Given the description of an element on the screen output the (x, y) to click on. 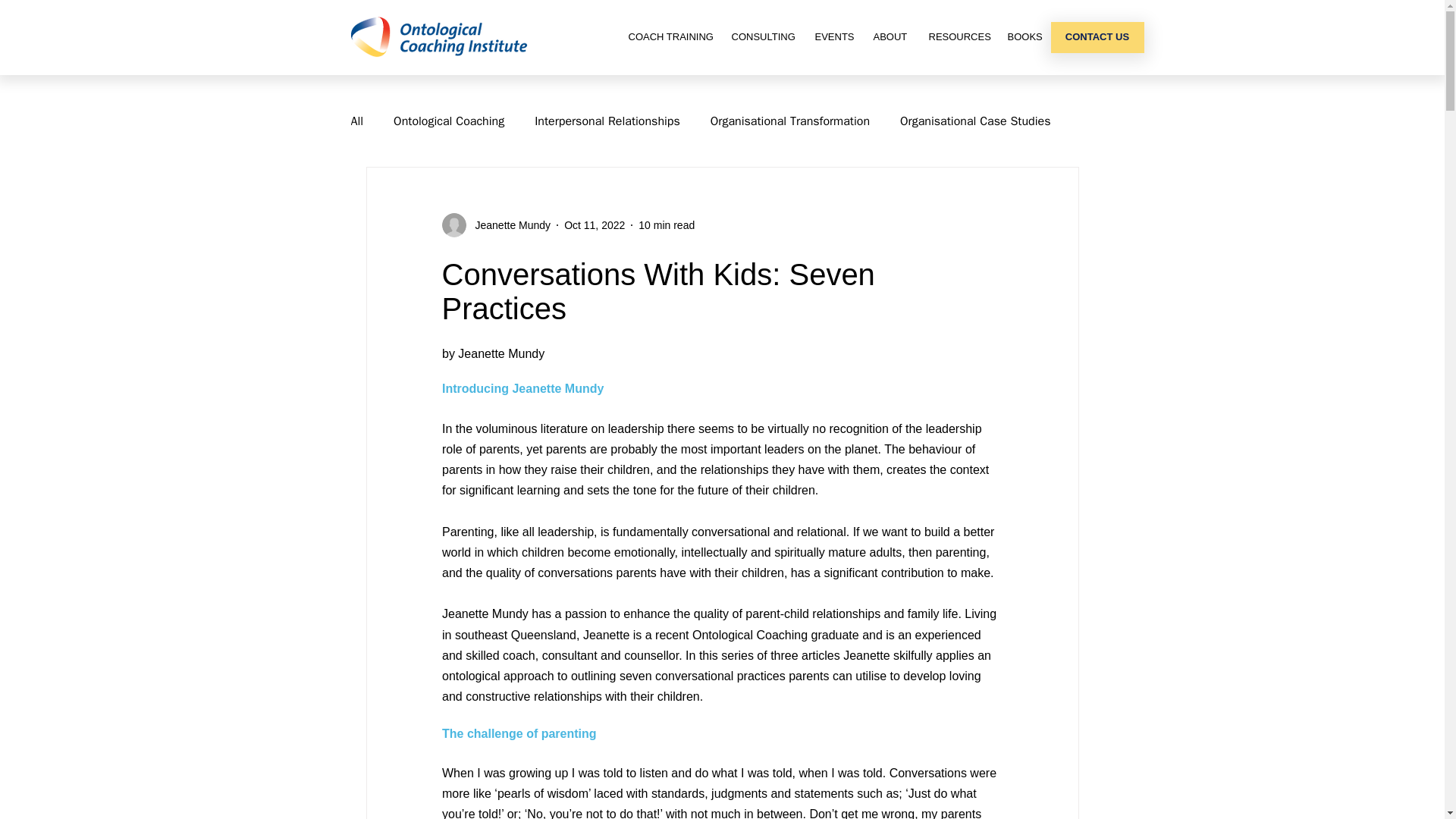
COACH TRAINING (668, 37)
Organisational Case Studies (974, 121)
RESOURCES (956, 37)
ABOUT (889, 37)
Organisational Transformation (789, 121)
BOOKS (1023, 37)
EVENTS (832, 37)
Oct 11, 2022 (594, 224)
Ontological Coaching (448, 121)
10 min read (666, 224)
